Given the description of an element on the screen output the (x, y) to click on. 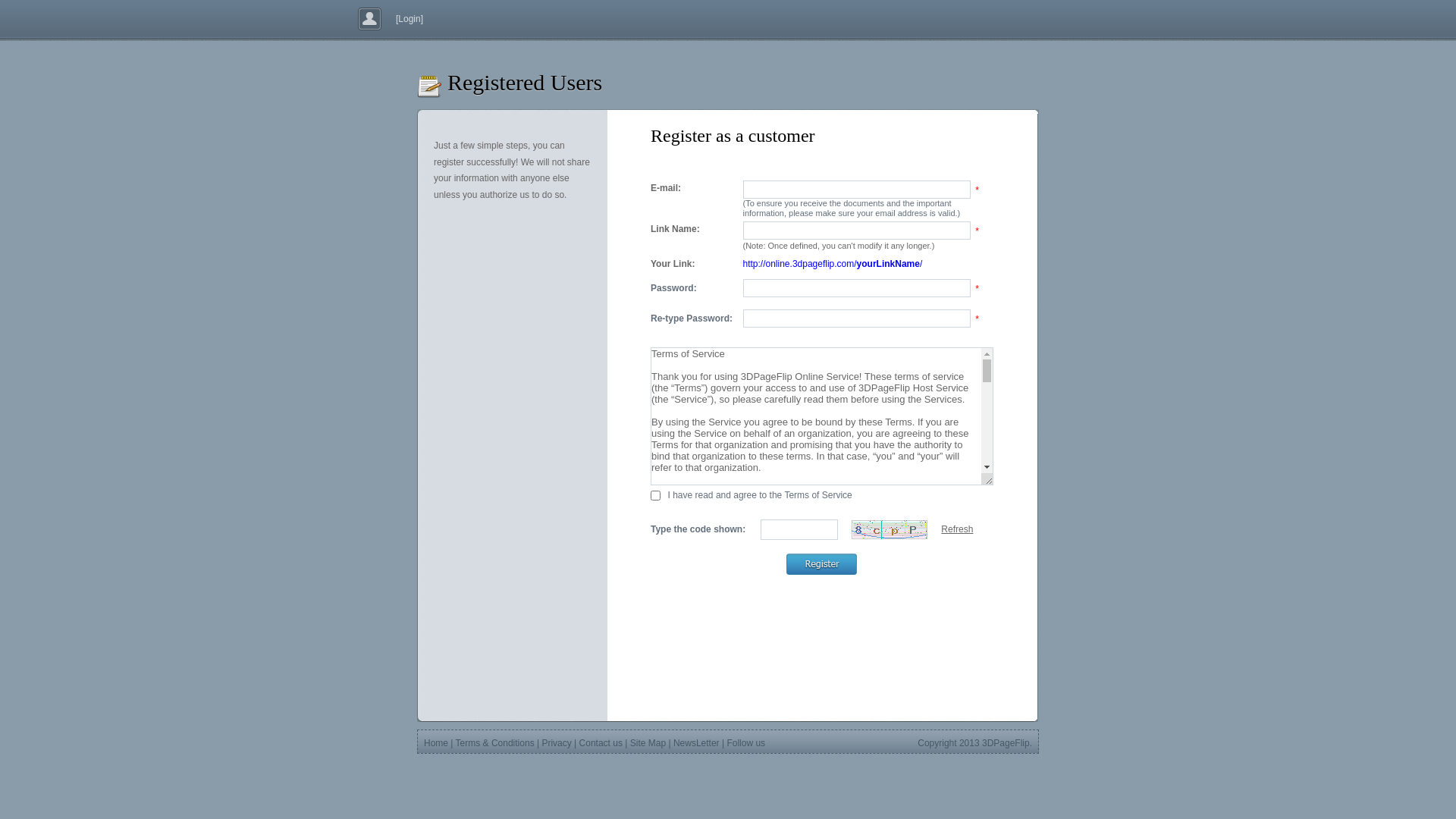
Site Map Element type: text (647, 742)
* Element type: text (977, 318)
NewsLetter Element type: text (696, 742)
   [Login] Element type: text (405, 18)
Terms & Conditions Element type: text (494, 742)
Home Element type: text (435, 742)
Contact us Element type: text (600, 742)
Privacy Element type: text (556, 742)
* Element type: text (977, 190)
Follow us Element type: text (745, 742)
* Element type: text (977, 230)
Refresh Element type: text (956, 529)
* Element type: text (977, 287)
